Given the description of an element on the screen output the (x, y) to click on. 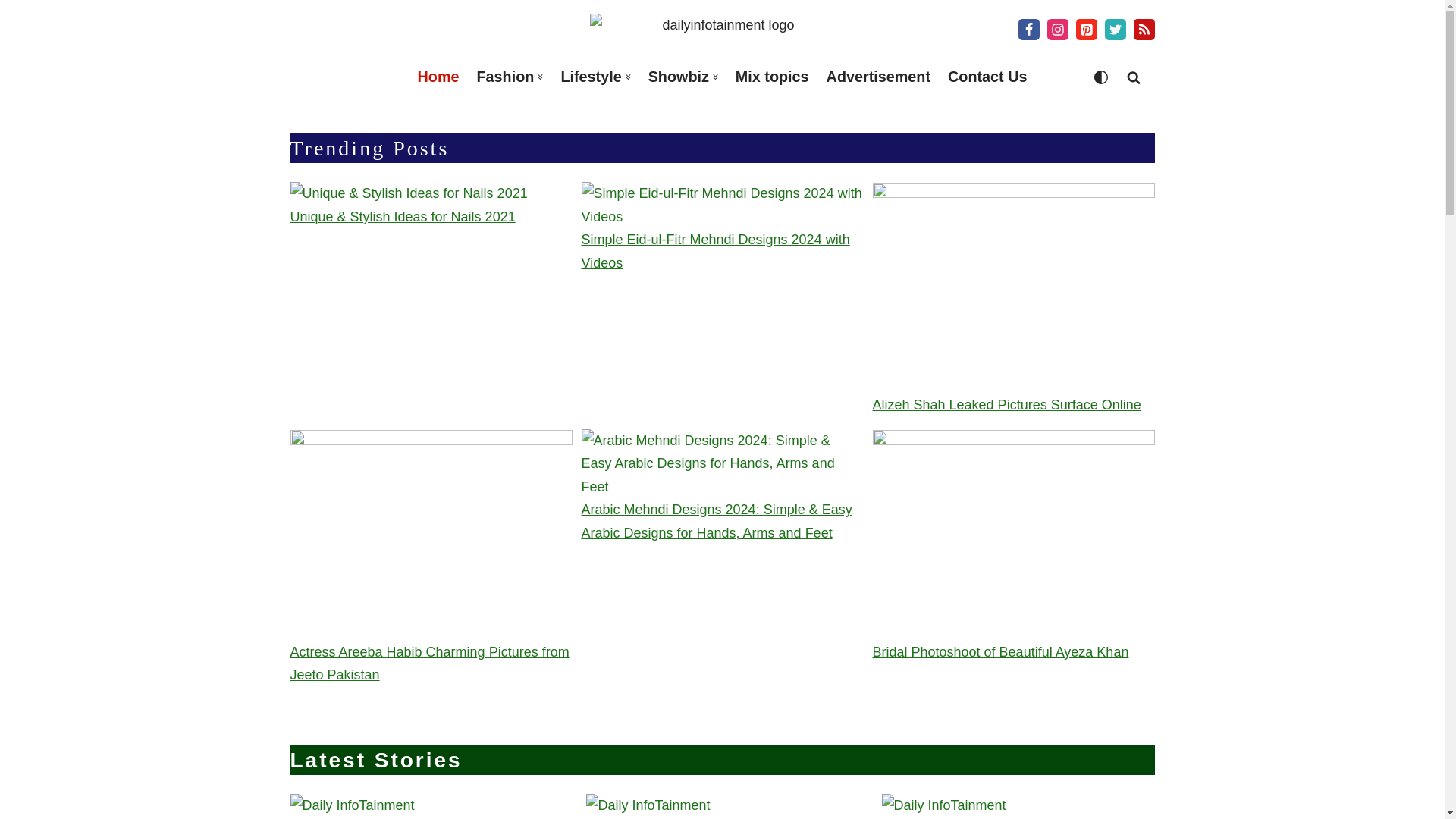
Pinterest (1085, 29)
Advertisement (878, 76)
Fashion (505, 76)
Skip to content (11, 31)
Twitter (1114, 29)
Google News (1143, 29)
Mix topics (772, 76)
Instagram (1056, 29)
Contact Us (986, 76)
Home (438, 76)
Lifestyle (590, 76)
Daily InfoTainment 5 (721, 463)
Simple Eid-ul-Fitr Mehndi Designs 2024 with Videos (721, 204)
Showbiz (678, 76)
